Given the description of an element on the screen output the (x, y) to click on. 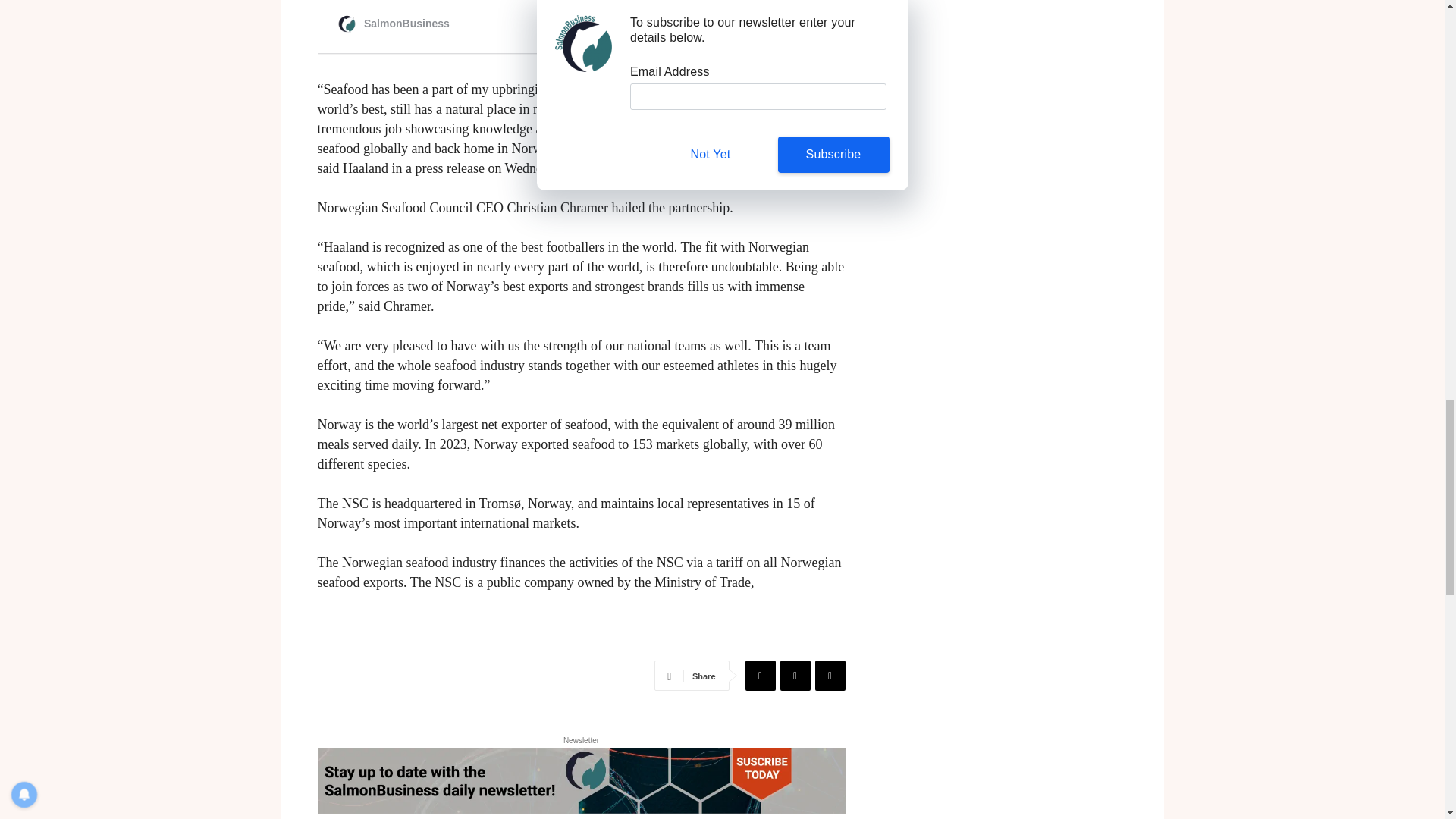
Twitter (793, 675)
Facebook (759, 675)
Linkedin (828, 675)
